Given the description of an element on the screen output the (x, y) to click on. 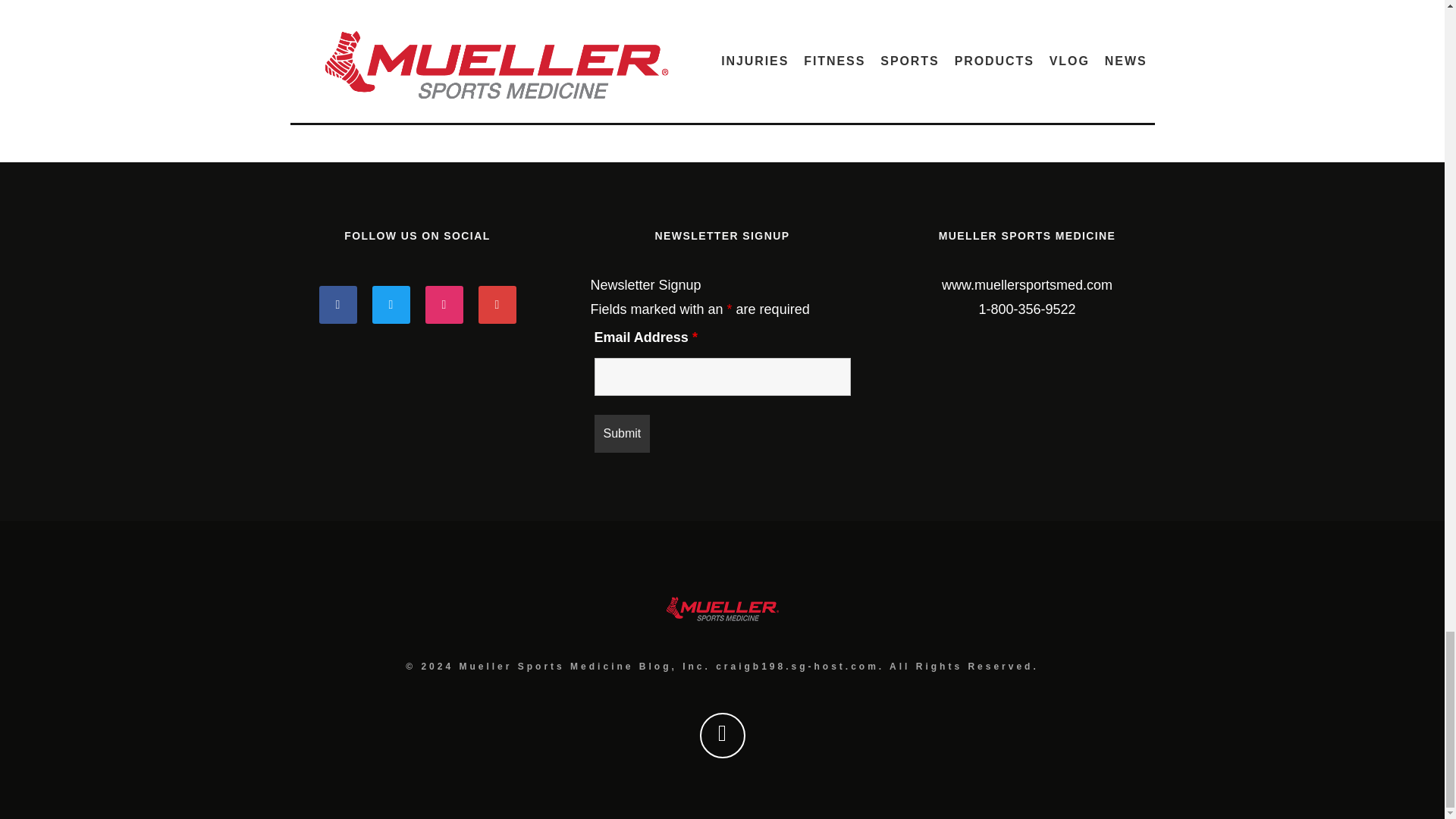
Submit (622, 433)
